Given the description of an element on the screen output the (x, y) to click on. 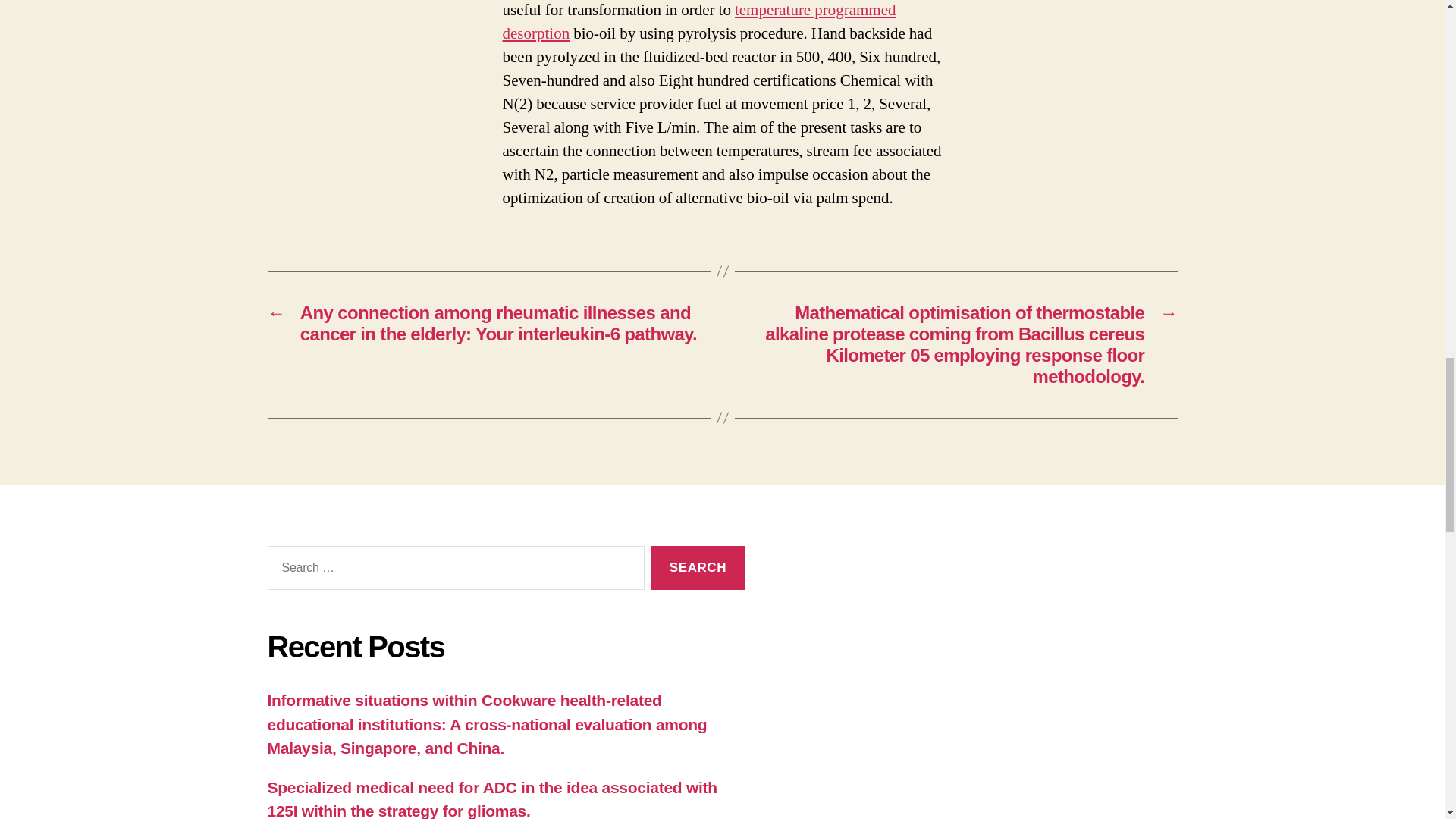
Search (697, 568)
Search (697, 568)
